Given the description of an element on the screen output the (x, y) to click on. 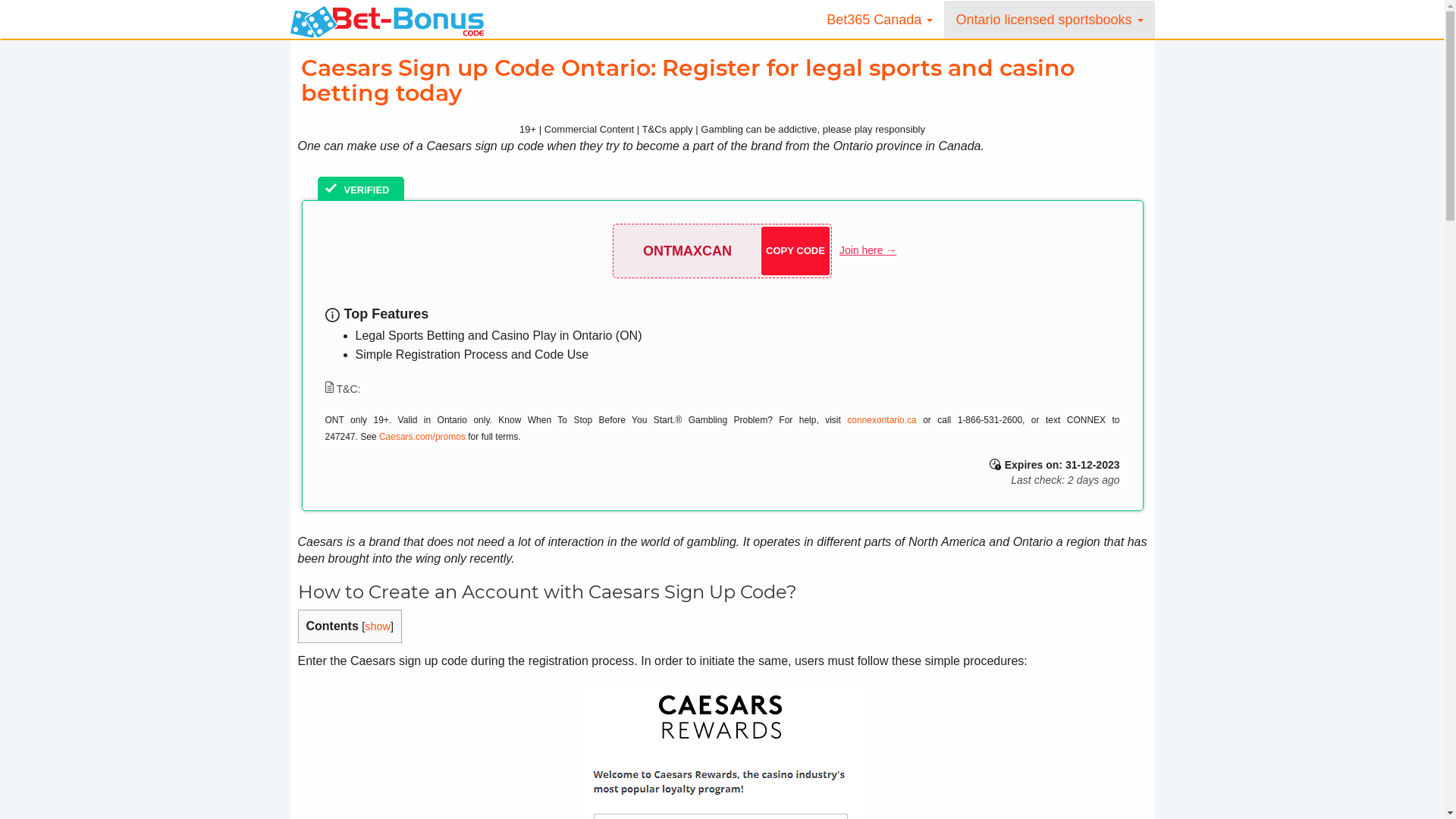
COPY CODE Element type: text (795, 250)
connexontario.ca Element type: text (881, 419)
Bet365 Canada Element type: text (879, 19)
iframe-Unibet-/-32Red-country-ALLRT-ALL Element type: hover (0, 15)
Ontario licensed sportsbooks Element type: text (1049, 19)
show Element type: text (377, 626)
Caesars.com/promos Element type: text (422, 436)
iframe-Pinnacle-country-ALLRT-ALL Element type: hover (0, 30)
